Given the description of an element on the screen output the (x, y) to click on. 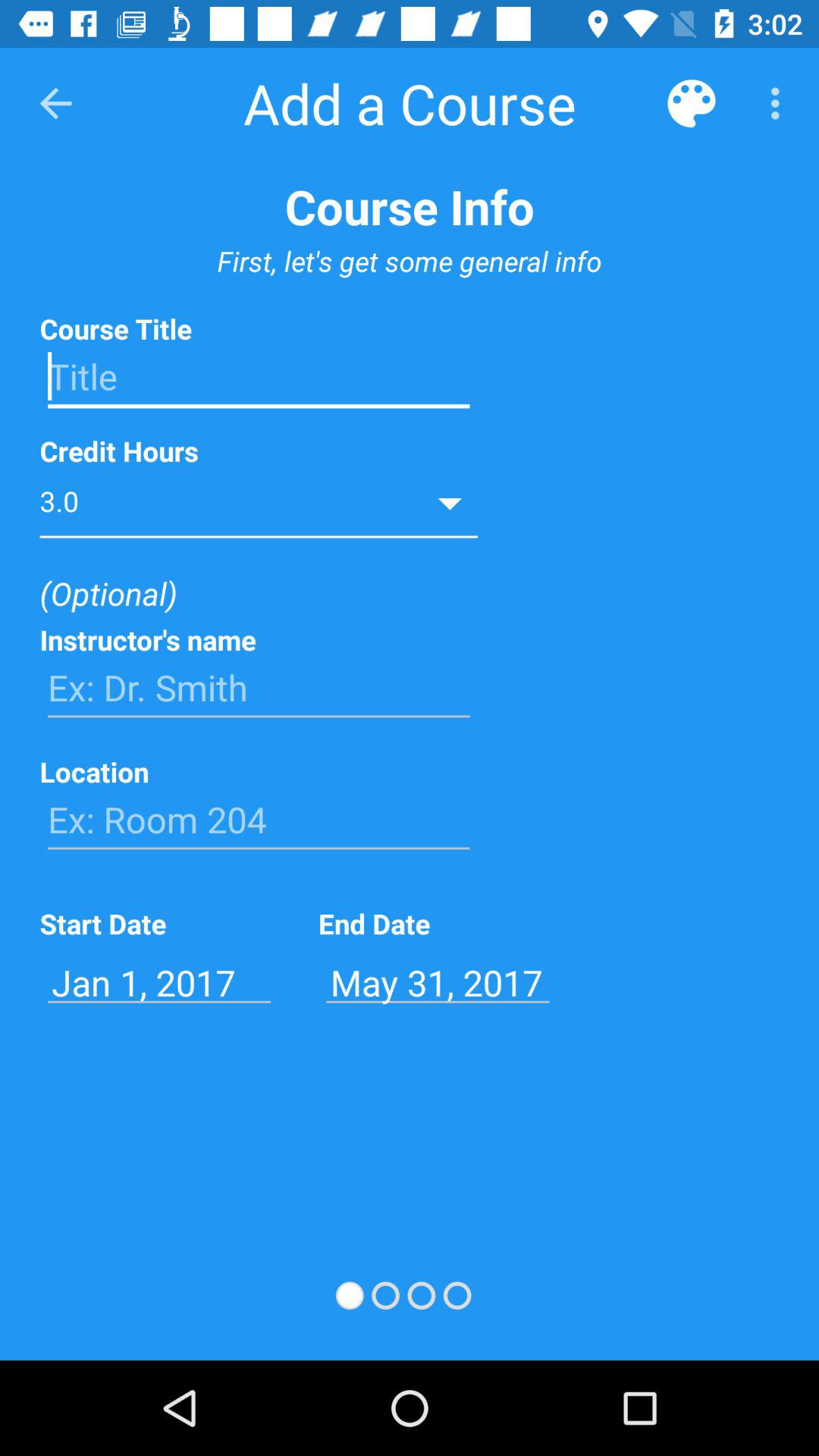
type name (258, 688)
